Given the description of an element on the screen output the (x, y) to click on. 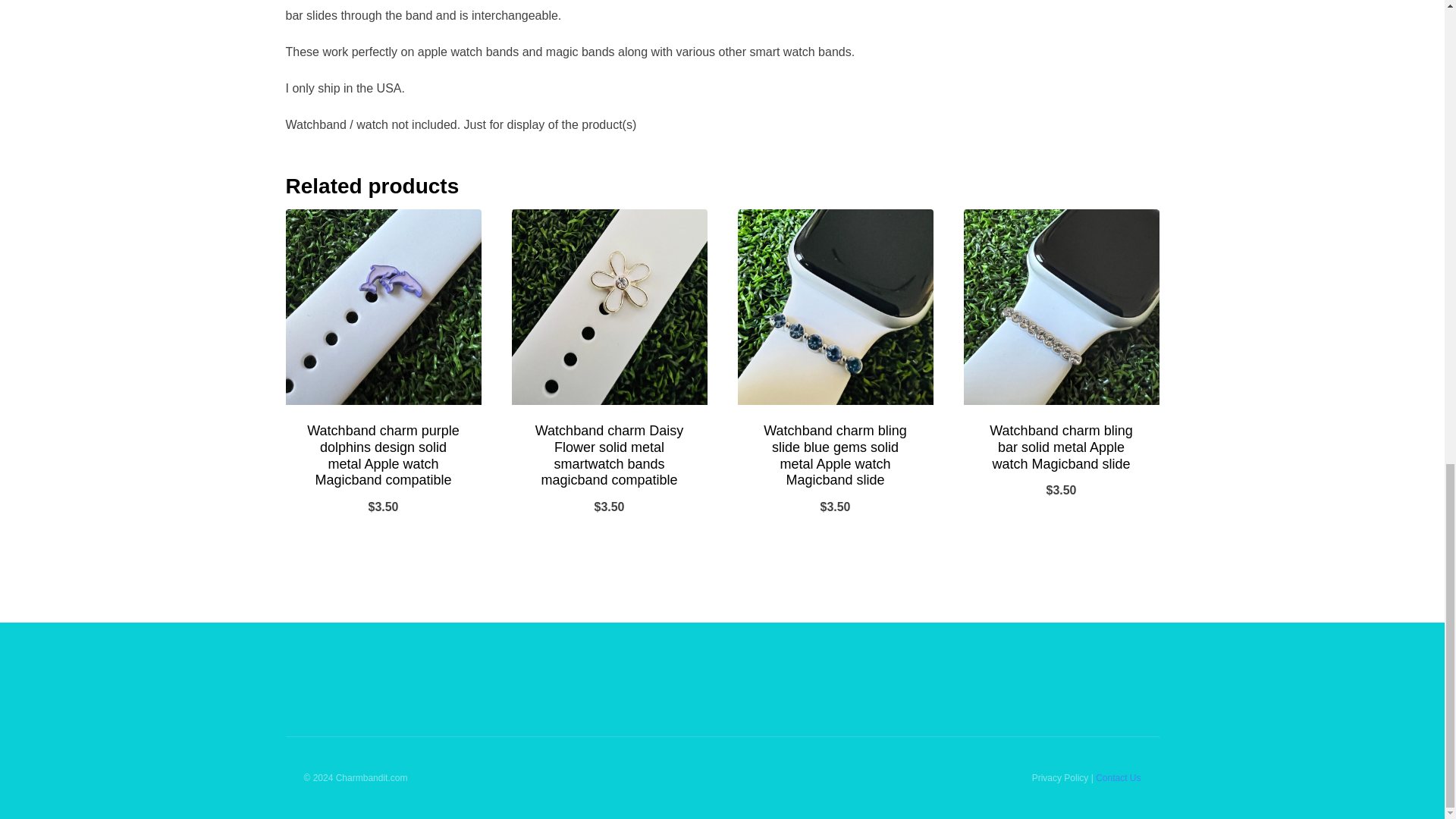
Contact Us (1118, 777)
